Given the description of an element on the screen output the (x, y) to click on. 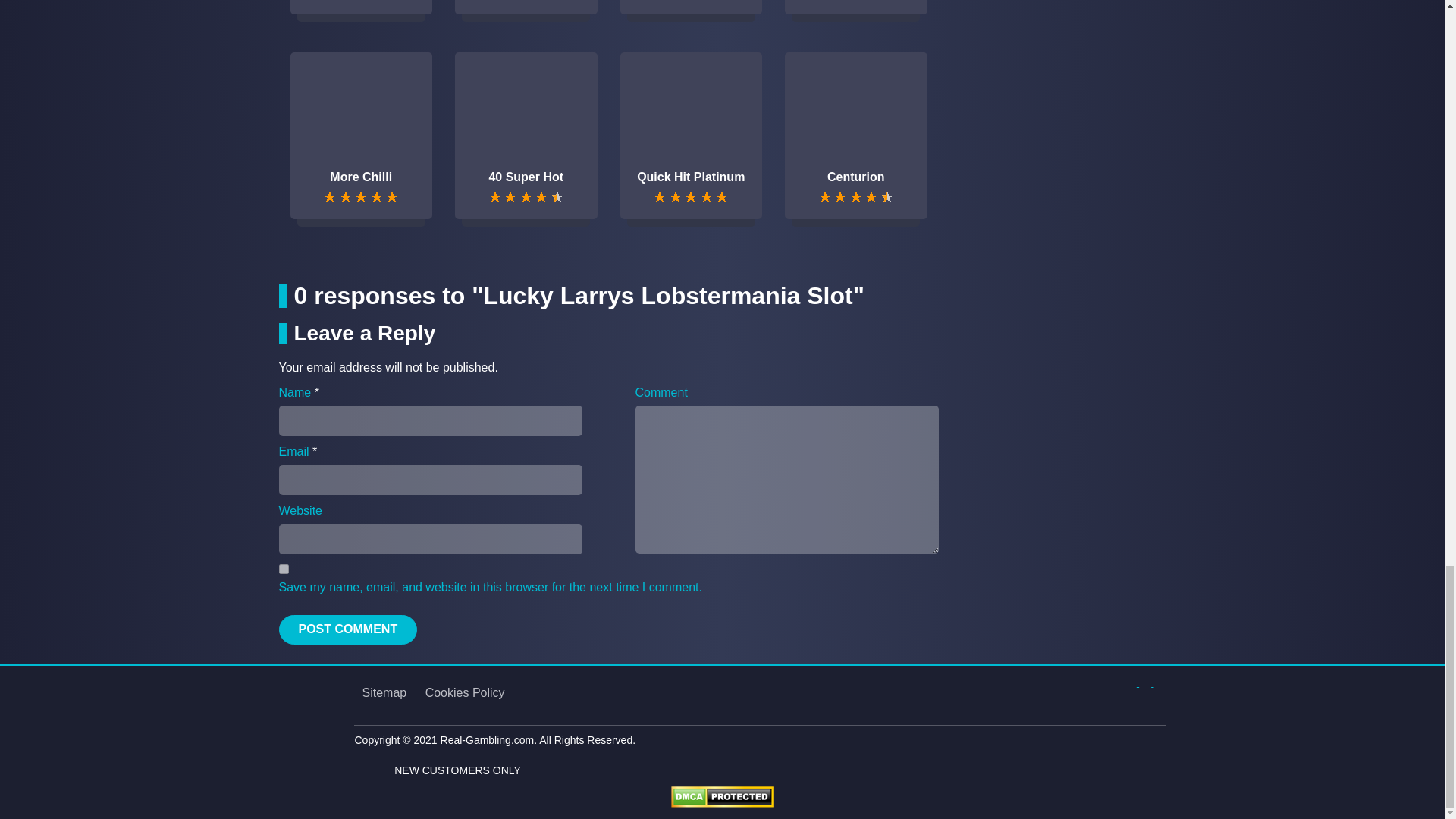
yes (283, 569)
DMCA.com Protection Status (722, 795)
Post Comment (348, 629)
